Given the description of an element on the screen output the (x, y) to click on. 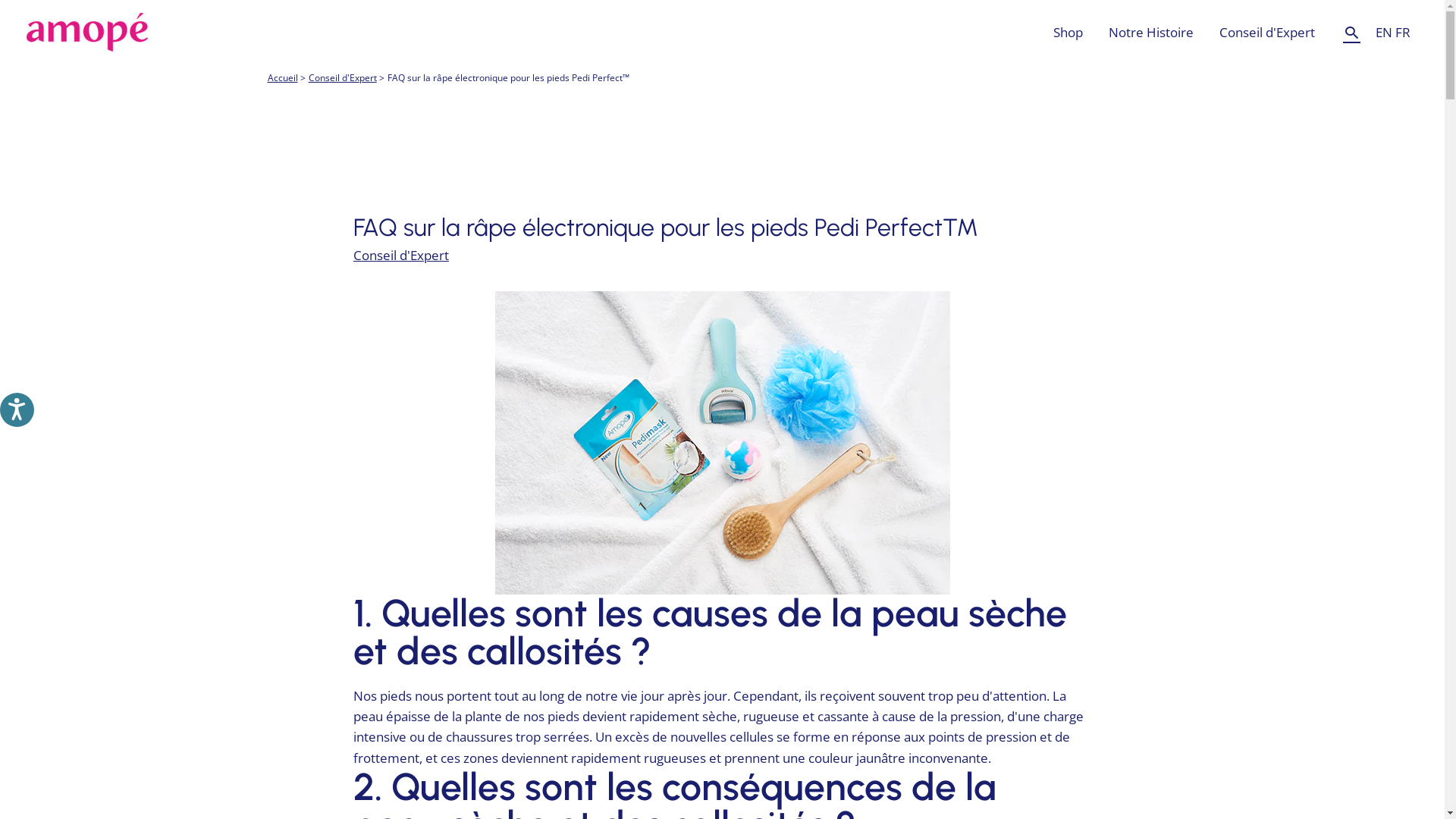
EN Element type: text (1383, 31)
Notre Histoire Element type: text (1150, 32)
Shop Element type: text (1067, 32)
Rechercher Element type: text (1351, 31)
Accueil Element type: text (281, 77)
Conseil d'Expert Element type: text (1266, 32)
Conseil d'Expert Element type: text (400, 254)
FR Element type: text (1402, 31)
Conseil d'Expert Element type: text (342, 77)
